Given the description of an element on the screen output the (x, y) to click on. 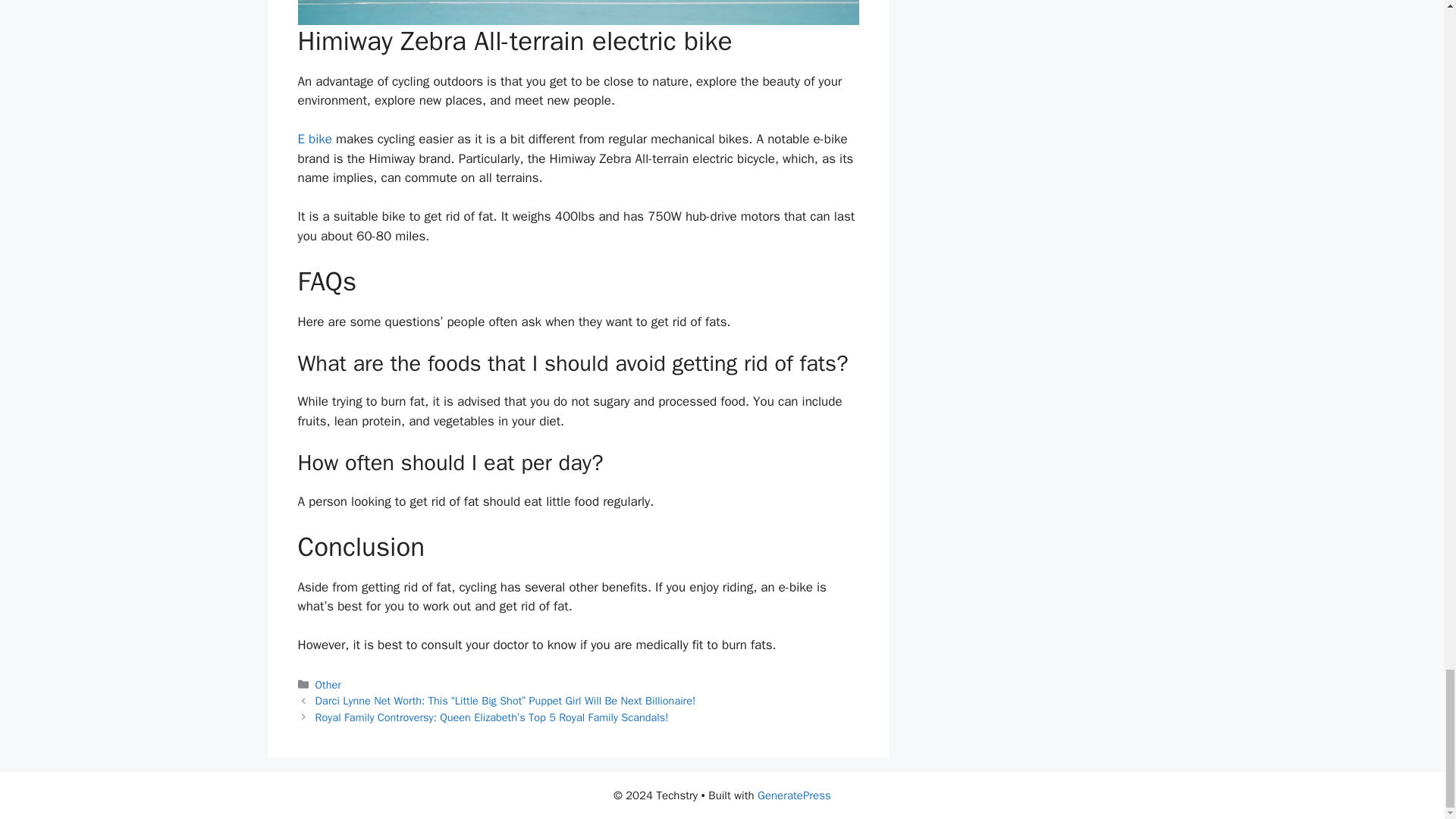
Other (327, 684)
E bike (314, 139)
